Given the description of an element on the screen output the (x, y) to click on. 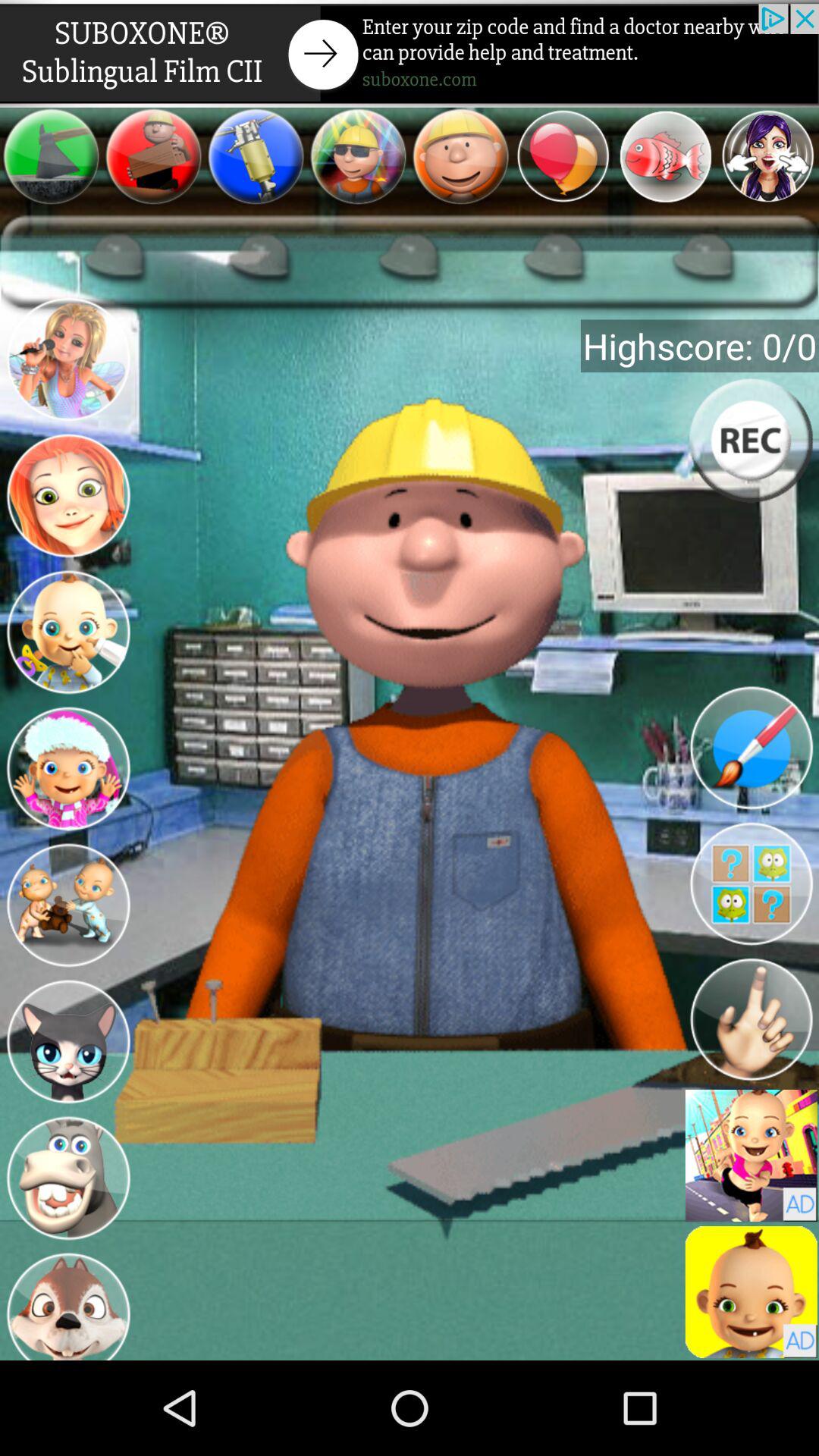
open selection (665, 156)
